Given the description of an element on the screen output the (x, y) to click on. 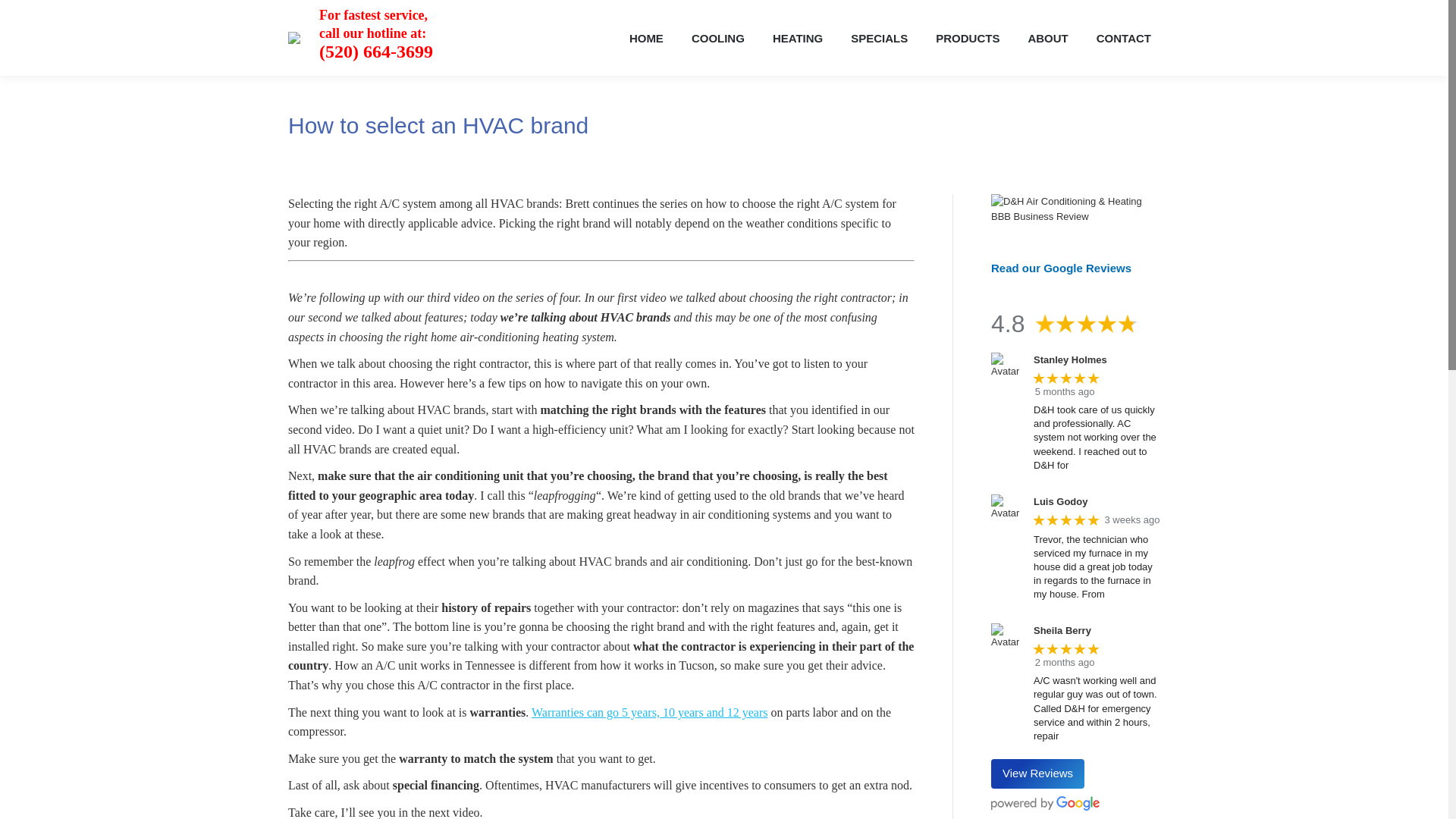
Powered by Google (1045, 803)
COOLING (718, 37)
HEATING (796, 37)
PRODUCTS (967, 37)
HOME (646, 37)
ABOUT (1047, 37)
SPECIALS (879, 37)
